Given the description of an element on the screen output the (x, y) to click on. 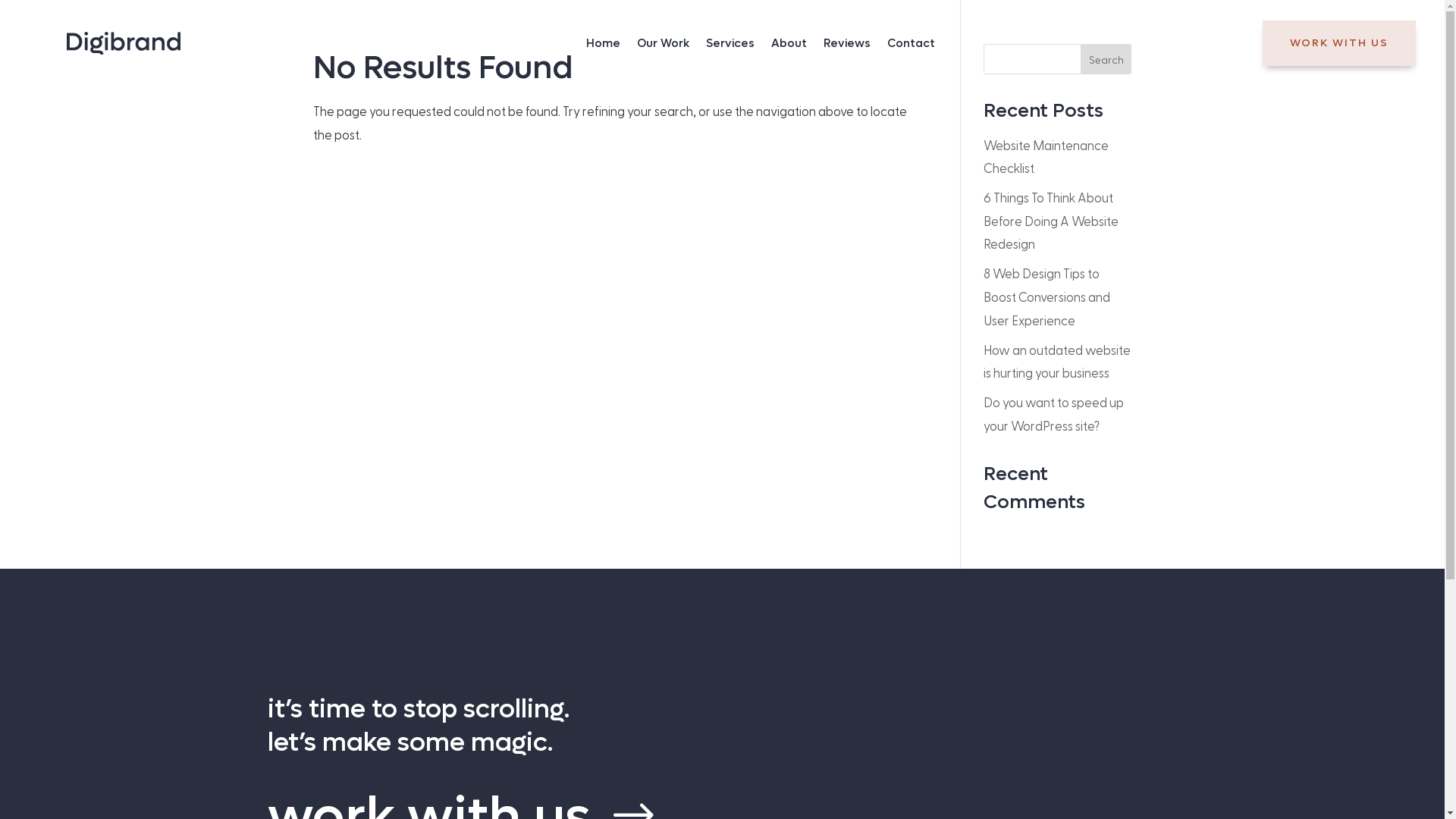
8 Web Design Tips to Boost Conversions and User Experience Element type: text (1046, 295)
Do you want to speed up your WordPress site? Element type: text (1053, 413)
Website Maintenance Checklist Element type: text (1045, 155)
About Element type: text (788, 45)
6 Things To Think About Before Doing A Website Redesign Element type: text (1050, 220)
Reviews Element type: text (846, 45)
How an outdated website is hurting your business Element type: text (1056, 361)
Home Element type: text (603, 45)
Our Work Element type: text (663, 45)
Contact Element type: text (911, 45)
Search Element type: text (1106, 58)
WORK WITH US Element type: text (1338, 42)
Services Element type: text (730, 45)
